Given the description of an element on the screen output the (x, y) to click on. 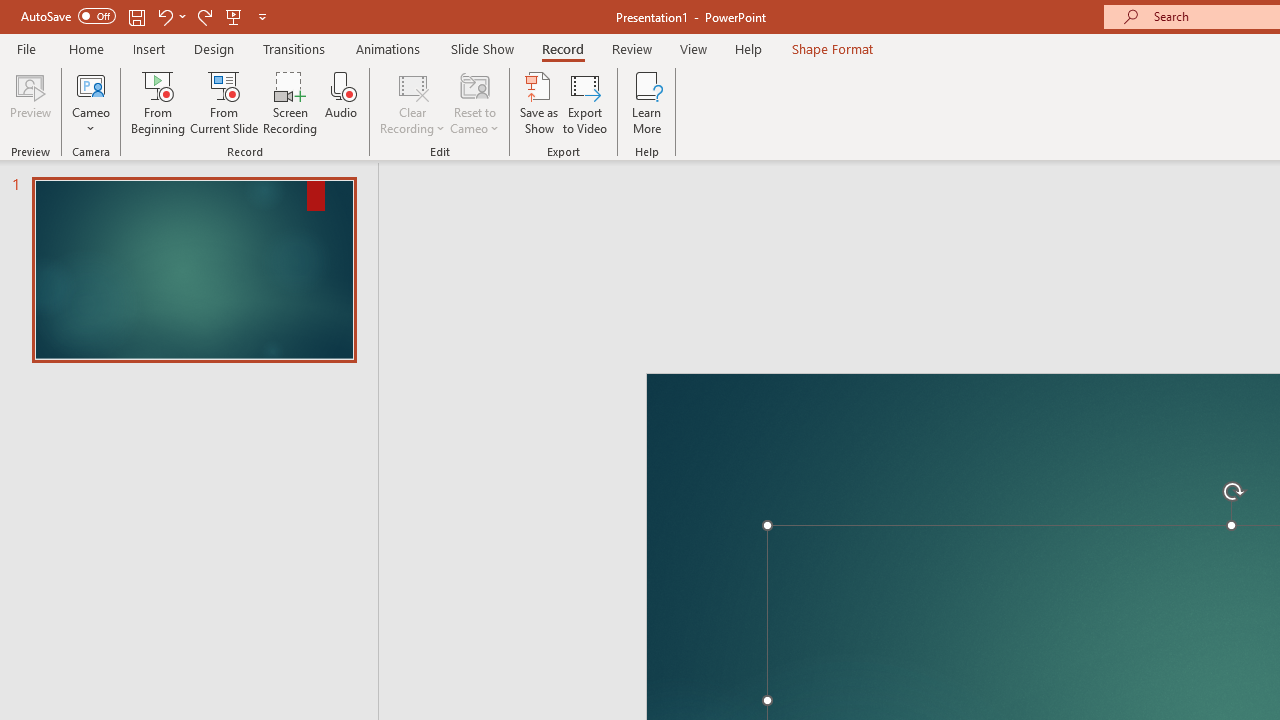
Save as Show (539, 102)
